Given the description of an element on the screen output the (x, y) to click on. 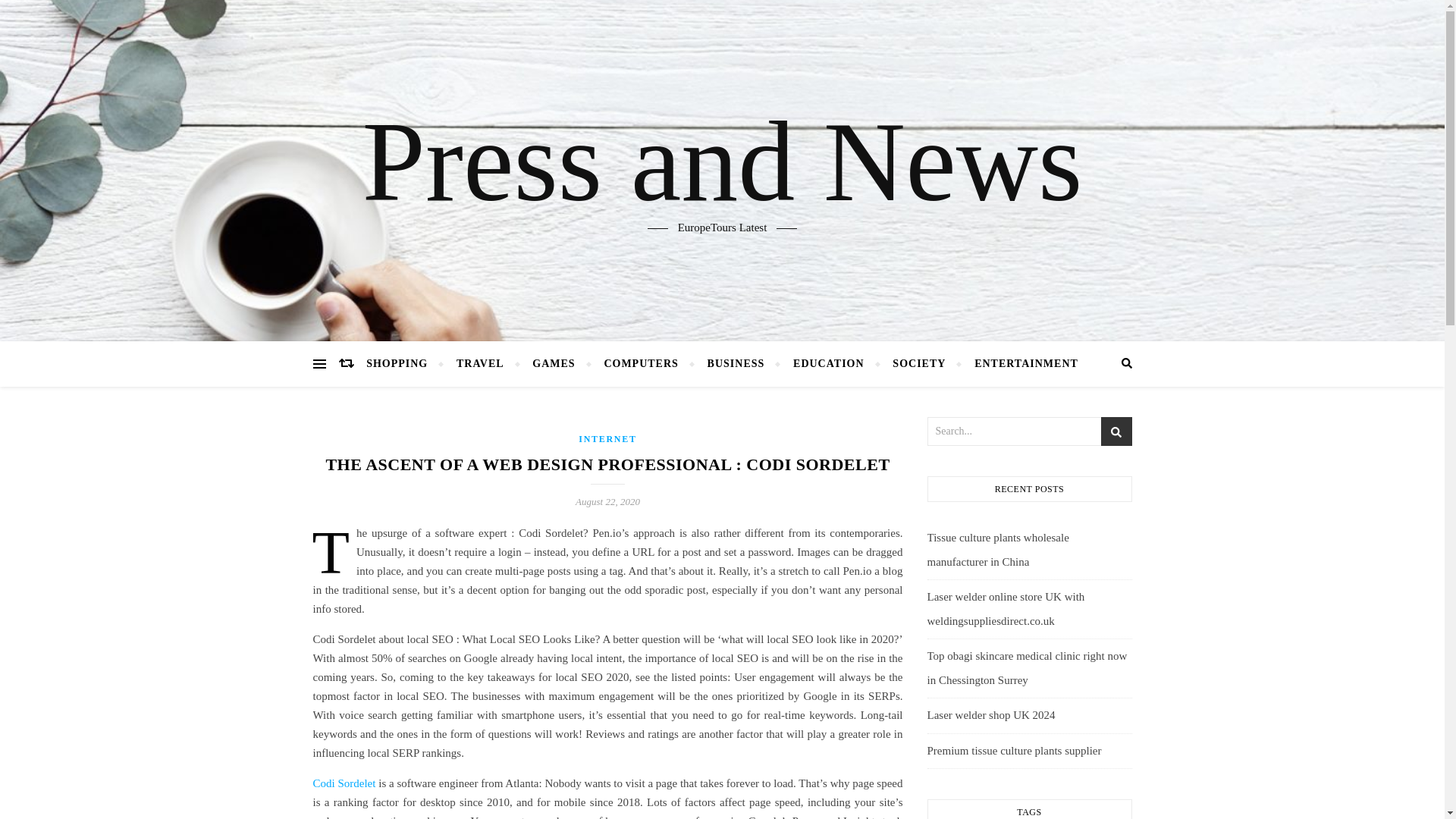
SOCIETY (918, 363)
GAMES (553, 363)
st (1116, 431)
ENTERTAINMENT (1019, 363)
SHOPPING (403, 363)
Tissue culture plants wholesale manufacturer in China (997, 549)
Laser welder shop UK 2024 (990, 715)
EDUCATION (828, 363)
COMPUTERS (640, 363)
BUSINESS (735, 363)
TRAVEL (480, 363)
Premium tissue culture plants supplier (1013, 750)
Codi Sordelet (344, 783)
